Given the description of an element on the screen output the (x, y) to click on. 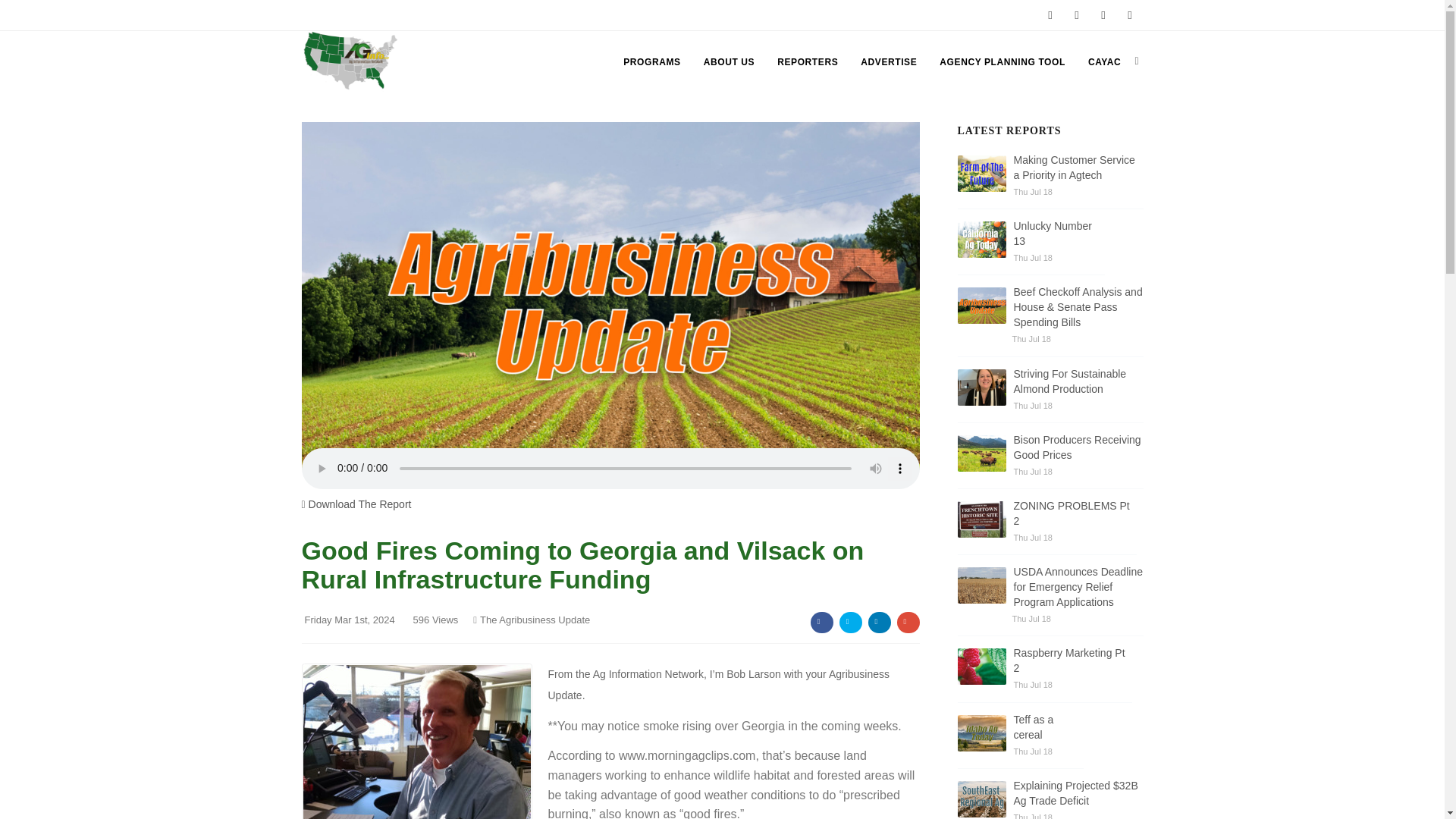
ABOUT US (728, 62)
PROGRAMS (651, 62)
